Given the description of an element on the screen output the (x, y) to click on. 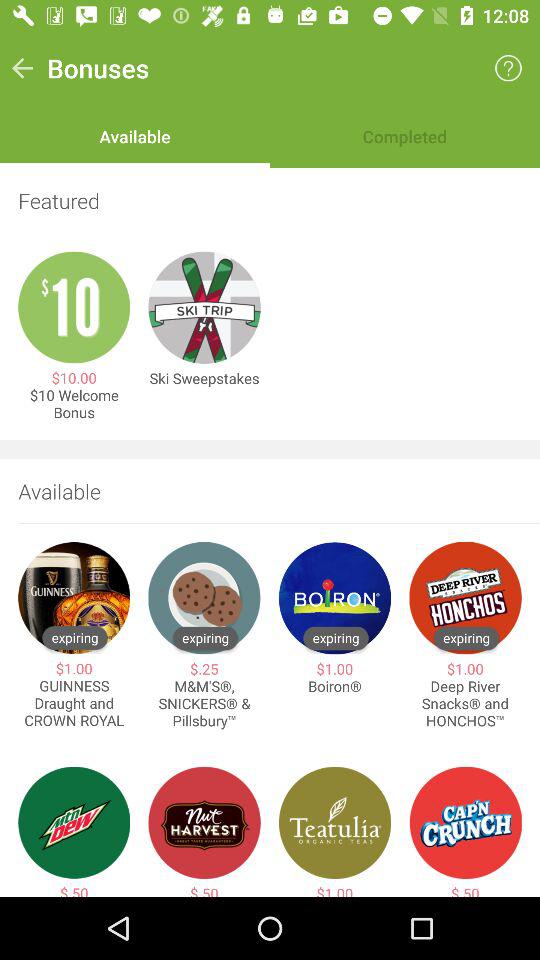
jump to the bonuses icon (98, 67)
